Given the description of an element on the screen output the (x, y) to click on. 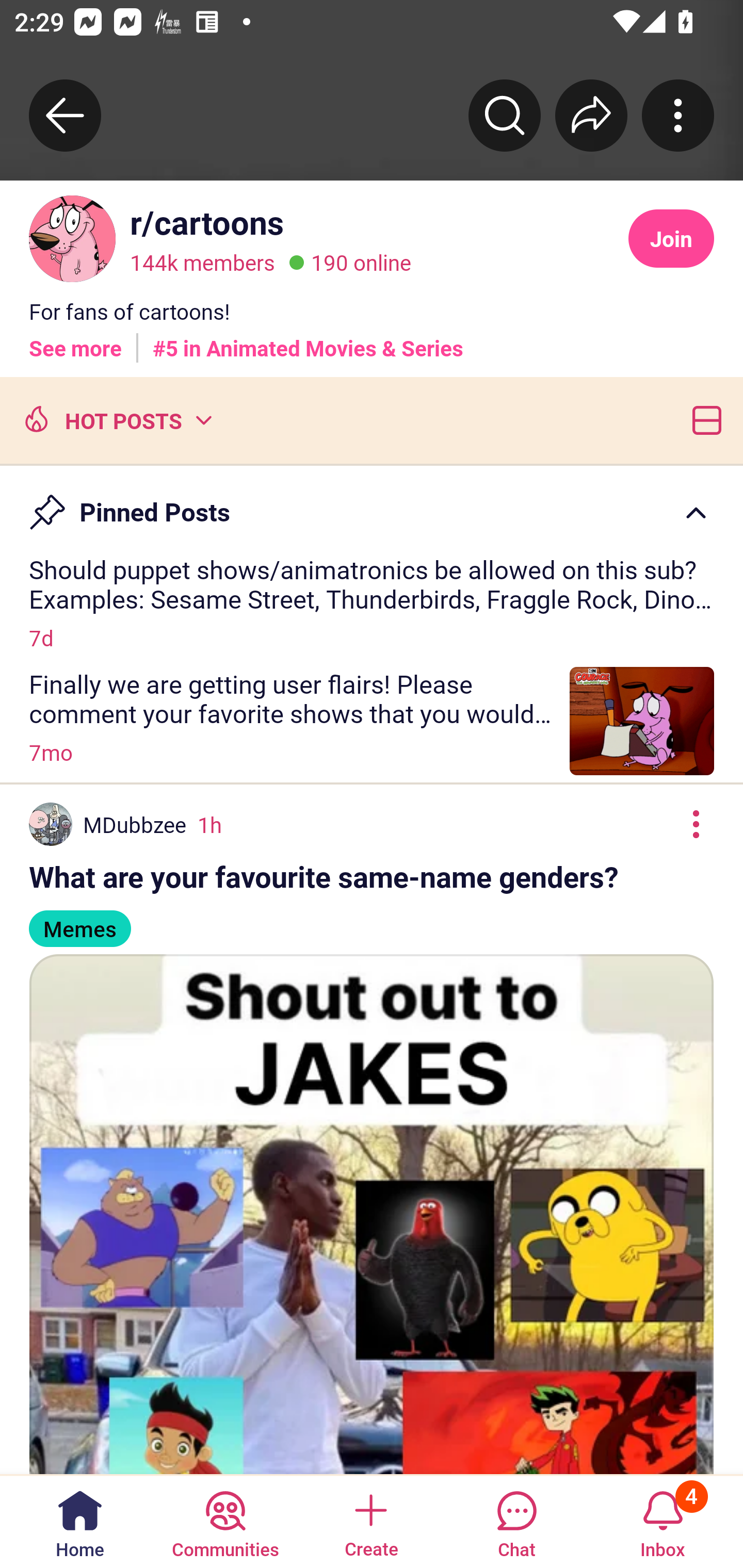
Back (64, 115)
Search r/﻿cartoons (504, 115)
Share r/﻿cartoons (591, 115)
More community actions (677, 115)
Hot posts HOT POSTS (116, 419)
Card (703, 419)
Pin Pinned Posts Caret (371, 503)
Memes (79, 919)
Home (80, 1520)
Communities (225, 1520)
Create a post Create (370, 1520)
Chat (516, 1520)
Inbox, has 4 notifications 4 Inbox (662, 1520)
